Given the description of an element on the screen output the (x, y) to click on. 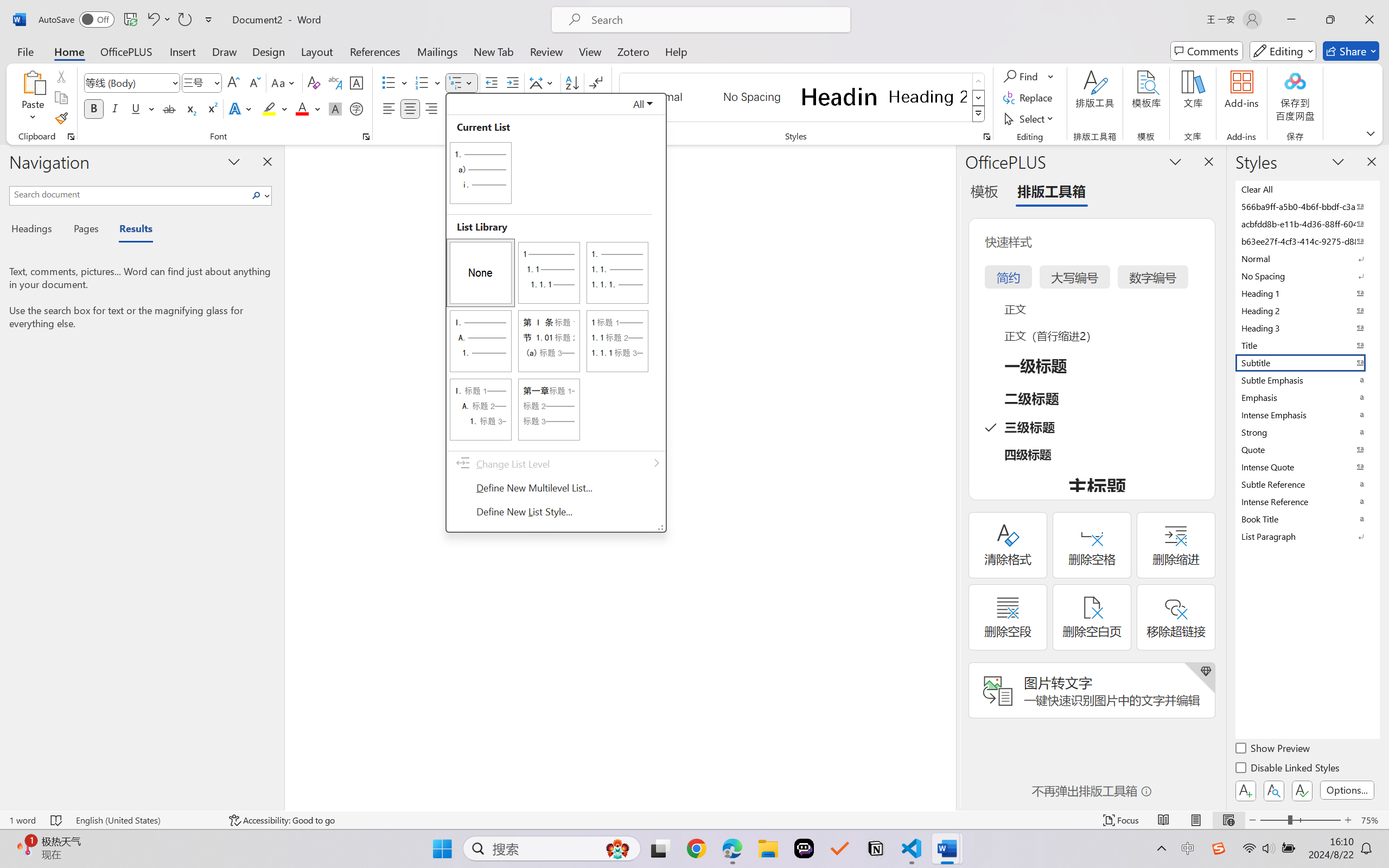
Minimize (1291, 19)
Office Clipboard... (70, 136)
Strong (1306, 431)
Increase Indent (512, 82)
b63ee27f-4cf3-414c-9275-d88e3f90795e (1306, 240)
Styles... (986, 136)
Subtle Emphasis (1306, 379)
Mode (1283, 50)
